Given the description of an element on the screen output the (x, y) to click on. 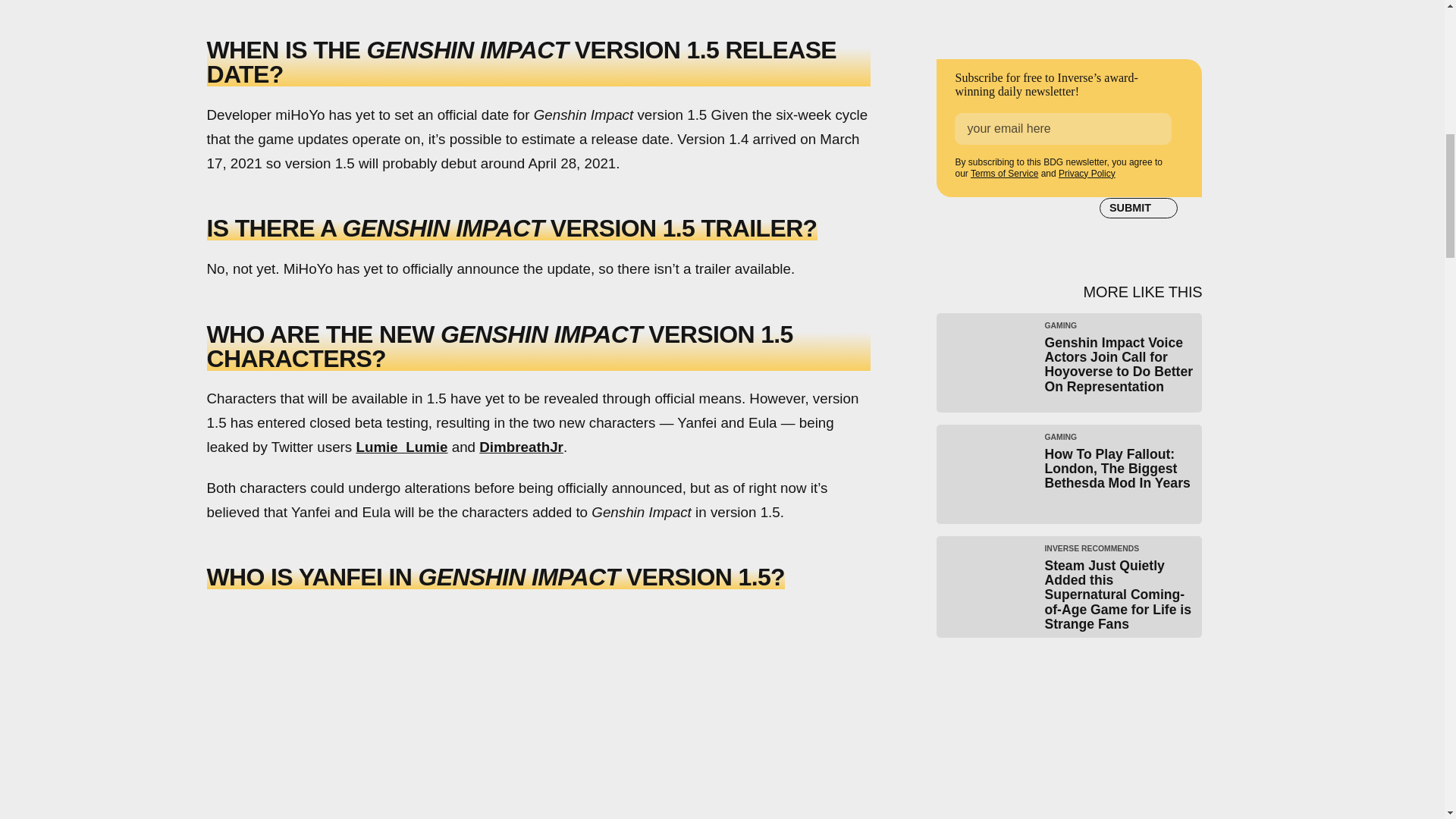
Privacy Policy (1086, 173)
DimbreathJr (521, 446)
Terms of Service (1004, 173)
SUBMIT (1138, 208)
